Given the description of an element on the screen output the (x, y) to click on. 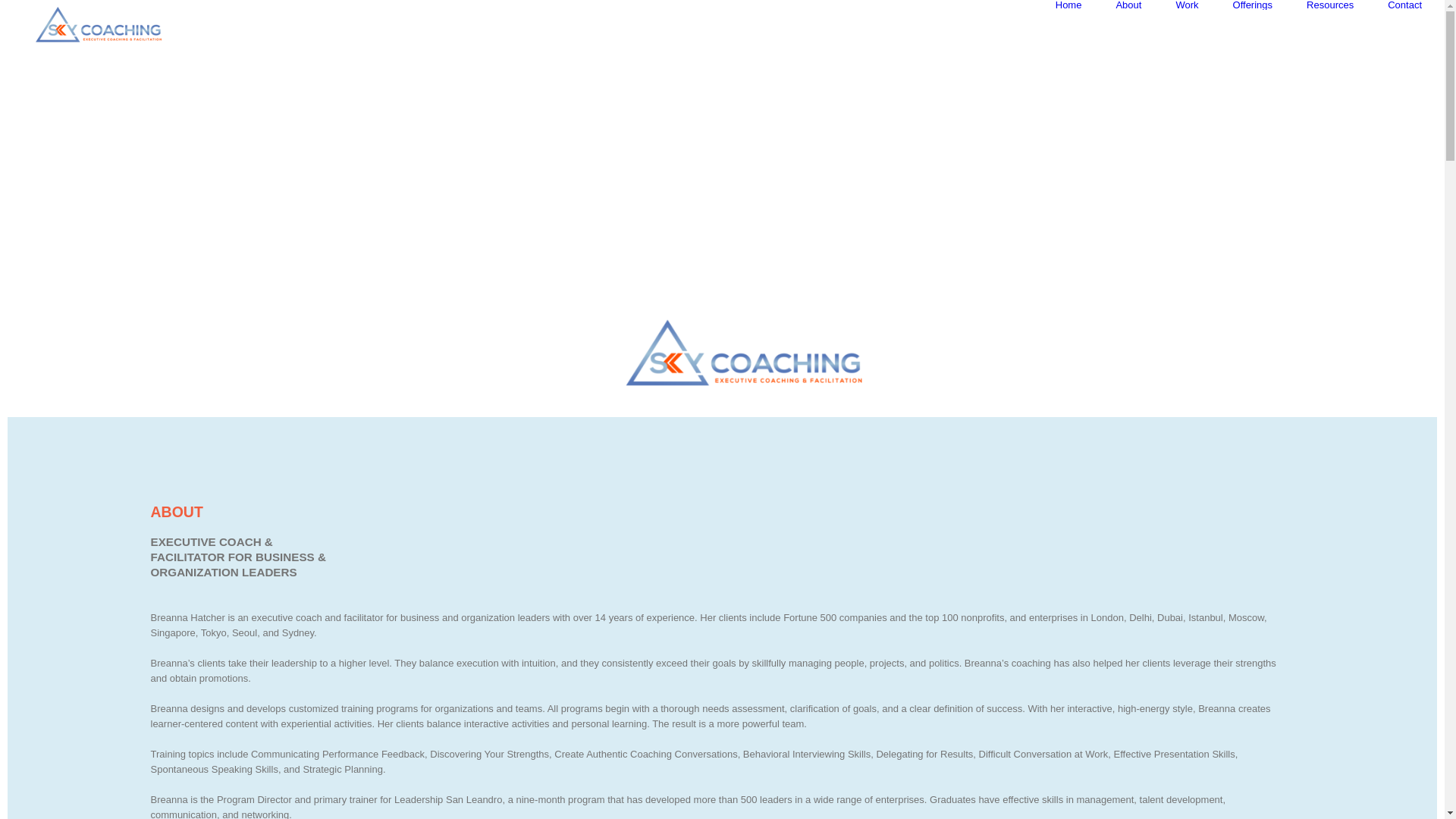
Contact (1404, 4)
Offerings (1252, 4)
Home (1068, 4)
About (1128, 4)
Resources (1330, 4)
Work (1186, 4)
